Given the description of an element on the screen output the (x, y) to click on. 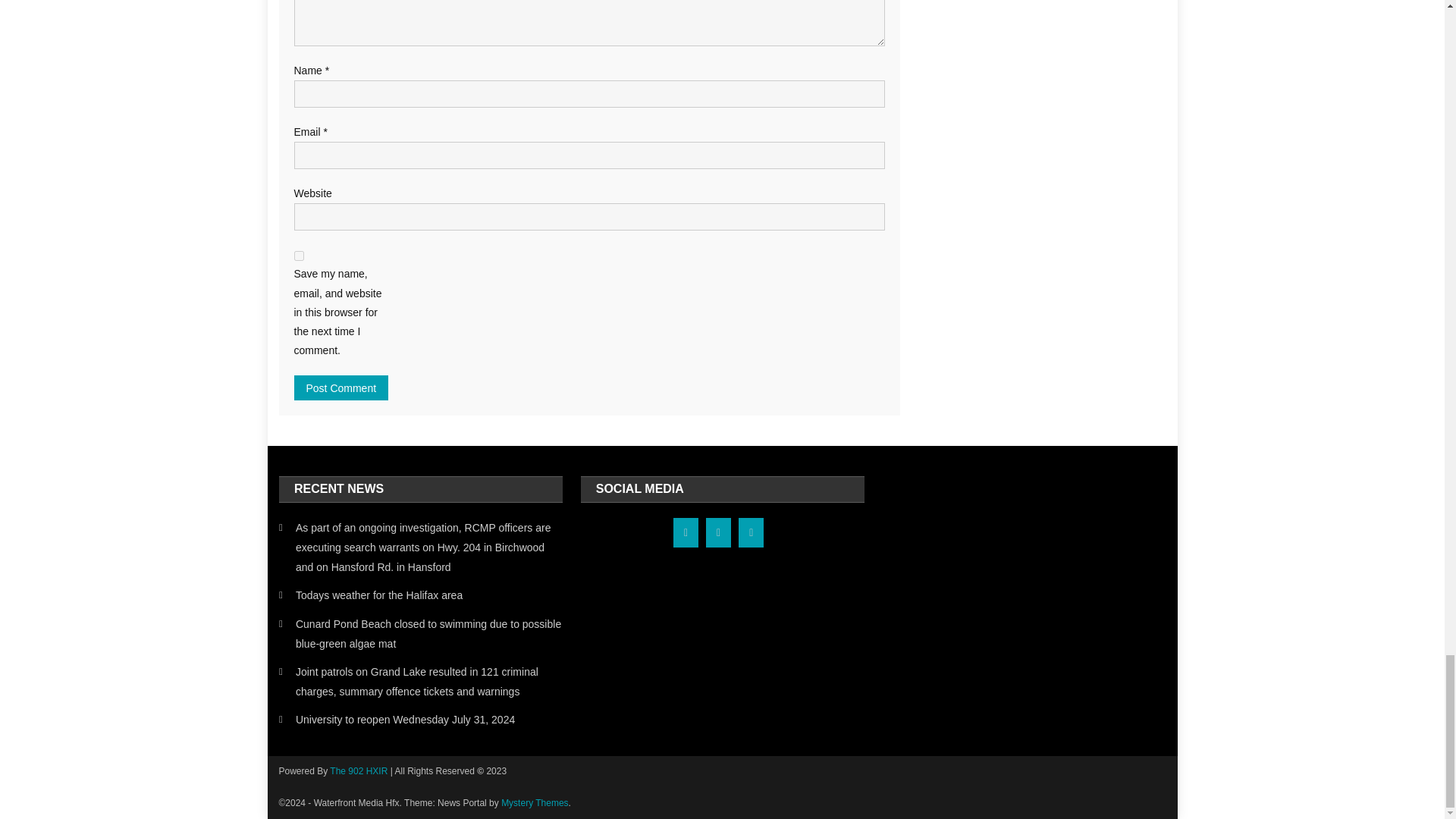
Post Comment (341, 387)
Post Comment (341, 387)
yes (299, 255)
